Given the description of an element on the screen output the (x, y) to click on. 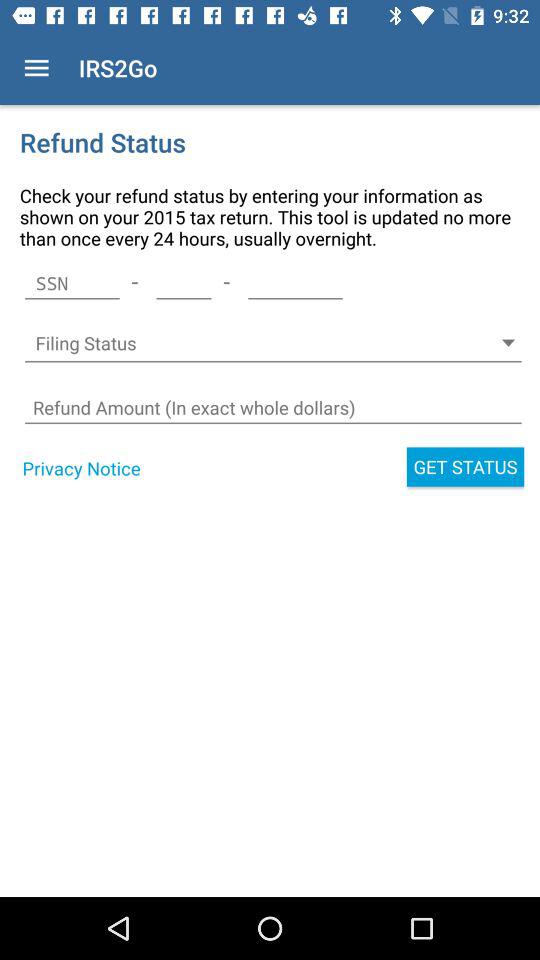
box to digit price (272, 408)
